Given the description of an element on the screen output the (x, y) to click on. 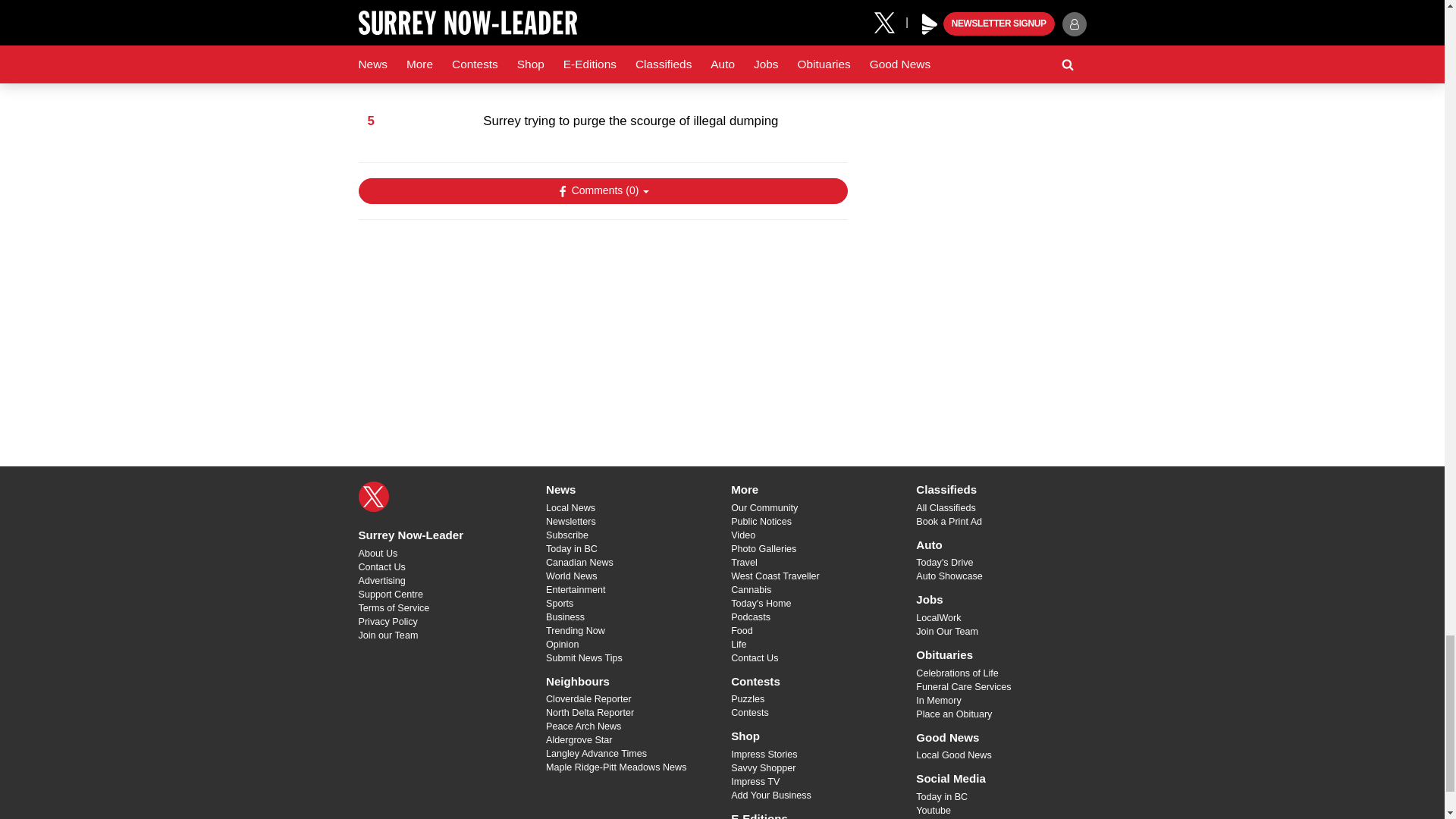
X (373, 496)
Show Comments (602, 190)
3rd party ad content (602, 330)
